Given the description of an element on the screen output the (x, y) to click on. 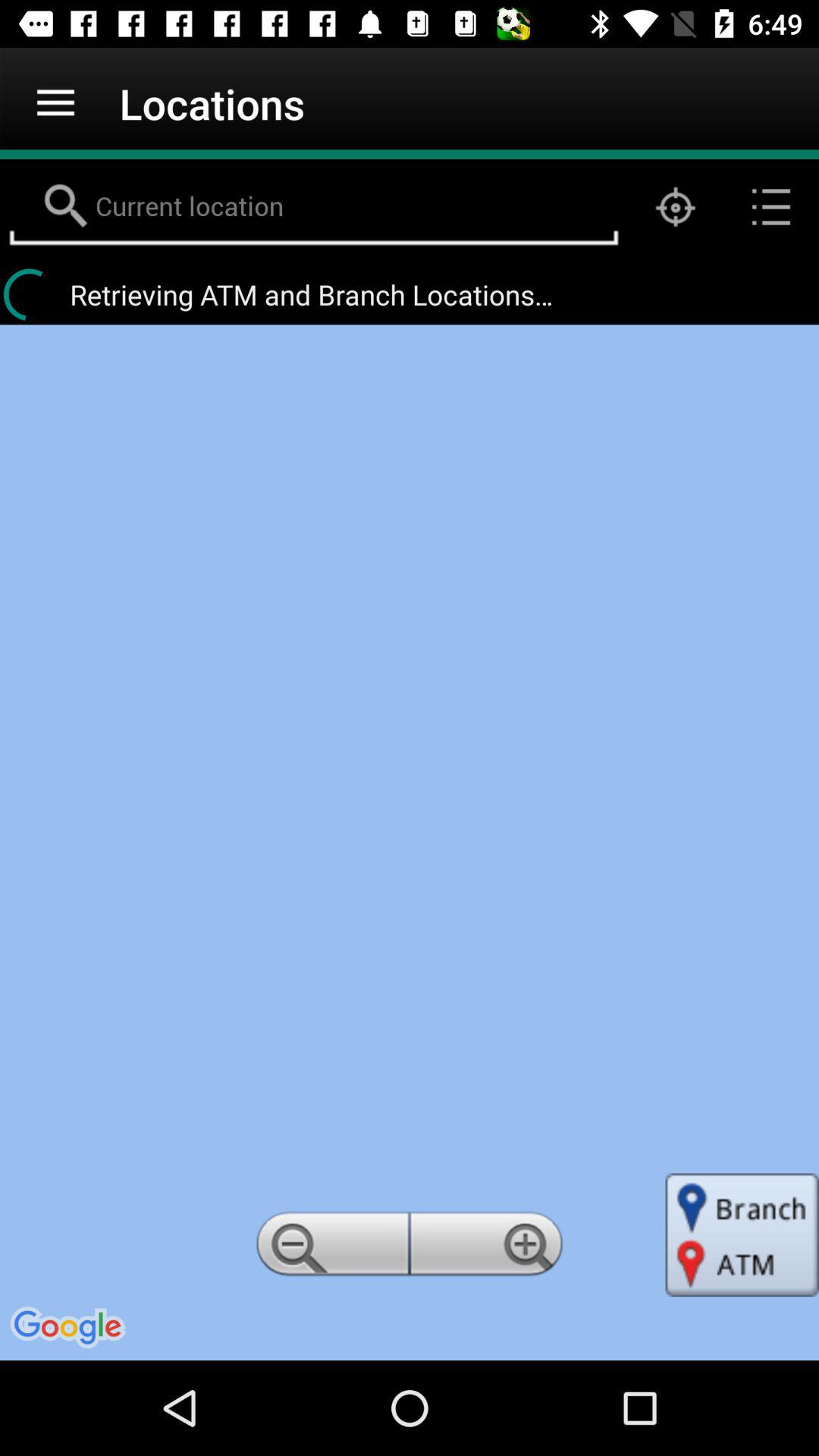
current location field (313, 206)
